Given the description of an element on the screen output the (x, y) to click on. 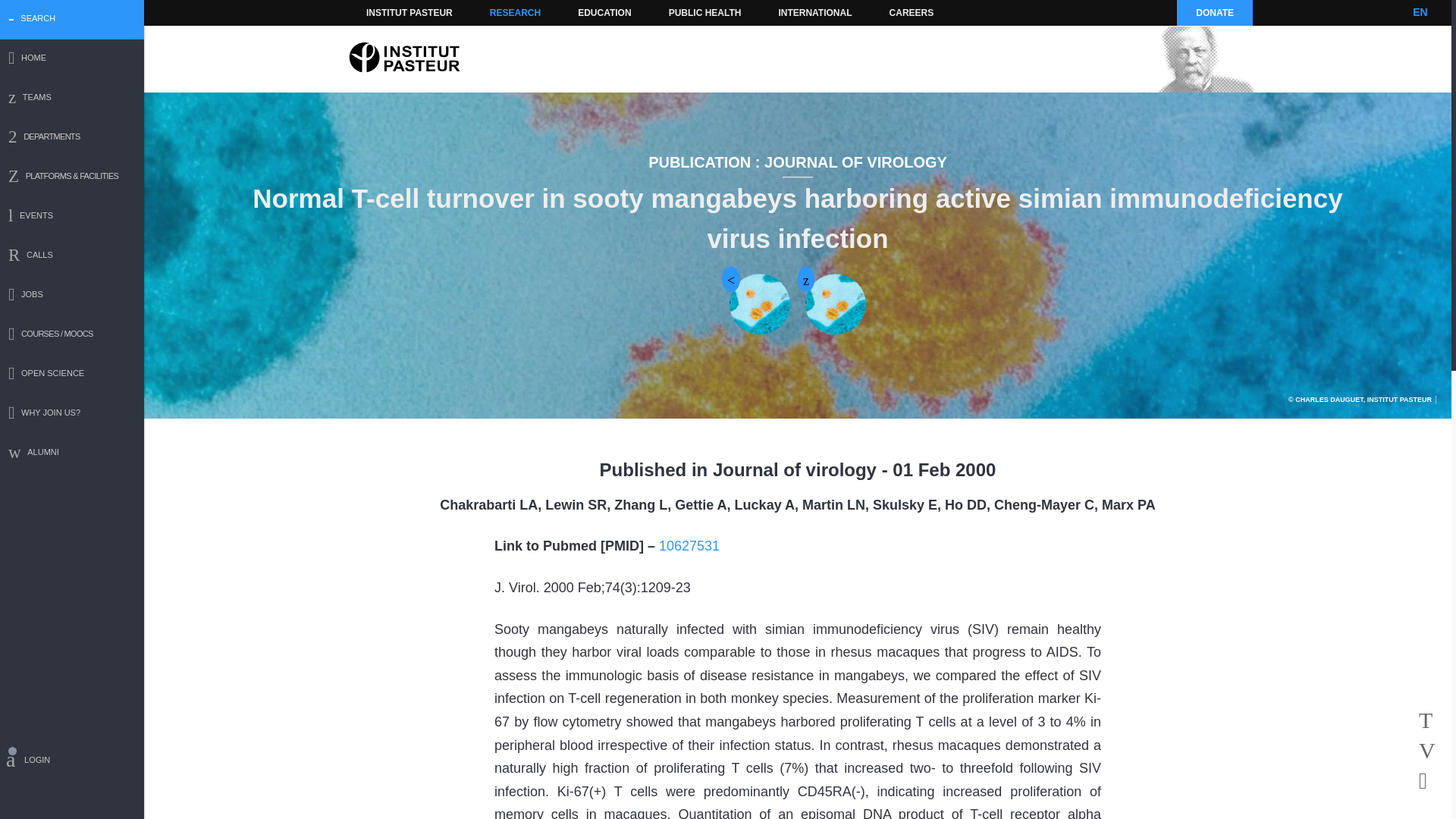
INTERNATIONAL (814, 12)
OPEN SCIENCE (72, 374)
EDUCATION (603, 12)
CAREERS (911, 12)
LOGIN (72, 762)
EVENTS (72, 217)
10627531 (689, 545)
JOBS (72, 296)
INSTITUT PASTEUR (409, 12)
ALUMNI (72, 454)
